Given the description of an element on the screen output the (x, y) to click on. 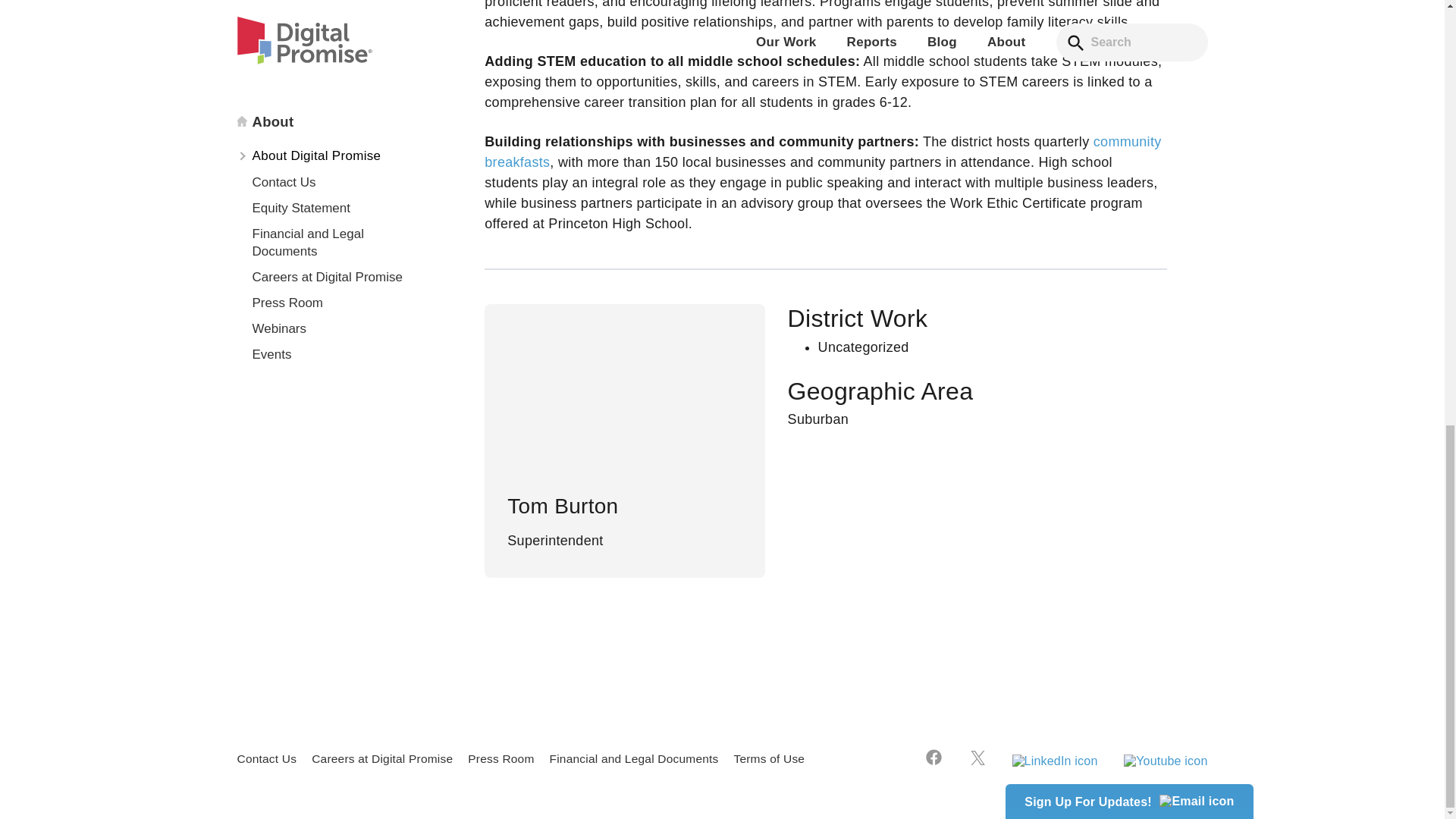
Financial and Legal Documents (634, 758)
community breakfasts (822, 151)
Press Room (500, 758)
Careers at Digital Promise (381, 758)
Contact Us (266, 758)
